Given the description of an element on the screen output the (x, y) to click on. 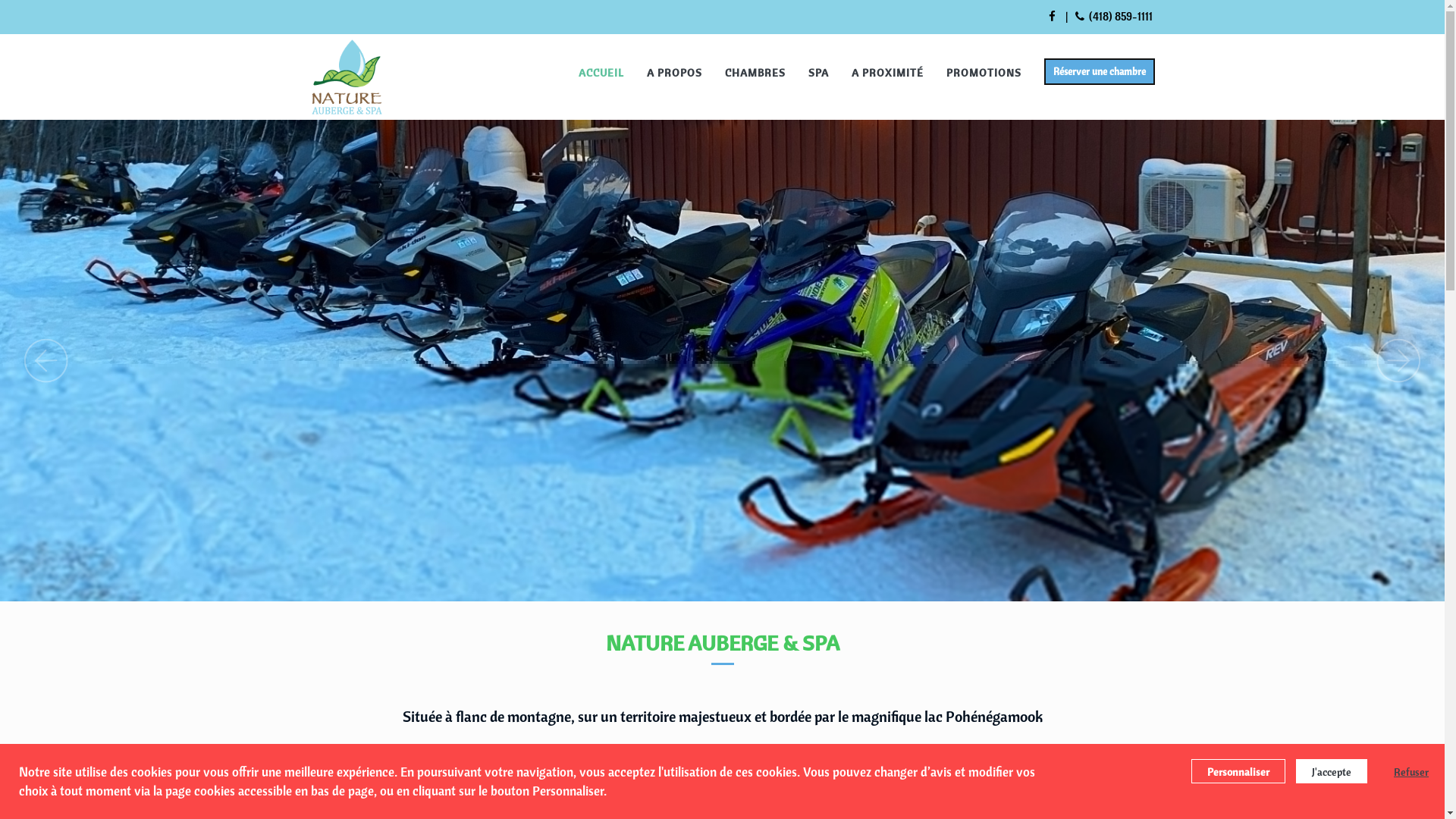
ACCUEIL Element type: text (601, 71)
A PROPOS Element type: text (674, 71)
Personnaliser Element type: text (1238, 771)
  Element type: text (1052, 16)
Refuser Element type: text (1403, 771)
CHAMBRES Element type: text (754, 71)
J'accepte Element type: text (1331, 771)
Nature Auberge et SPA Element type: hover (346, 76)
PROMOTIONS Element type: text (983, 71)
  (418) 859-1111 Element type: text (1113, 16)
SPA Element type: text (817, 71)
